Given the description of an element on the screen output the (x, y) to click on. 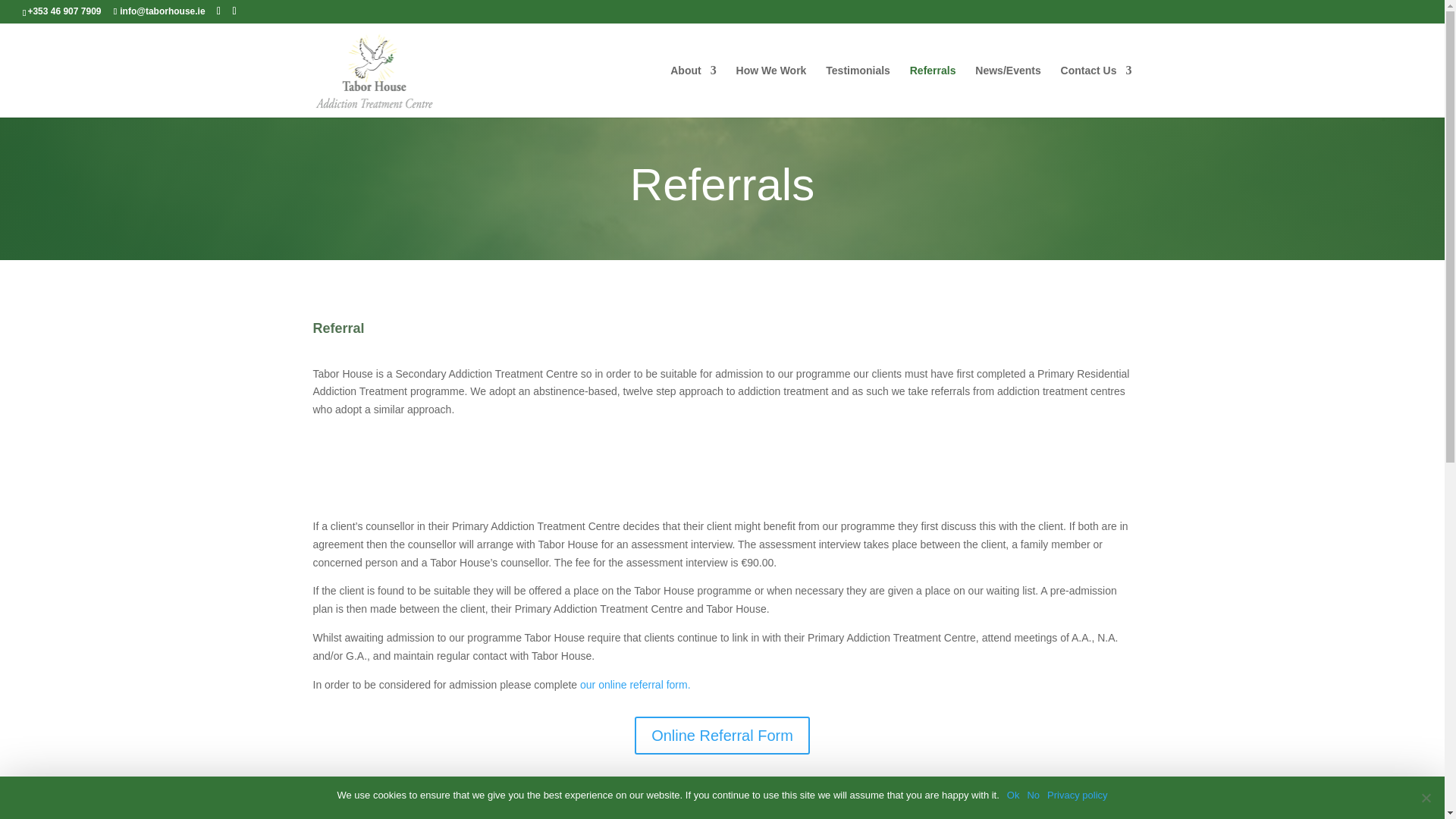
Contact Us (1096, 91)
Online Referral Form (721, 735)
our online referral form. (634, 684)
How We Work (771, 91)
No (1425, 797)
Testimonials (857, 91)
